Given the description of an element on the screen output the (x, y) to click on. 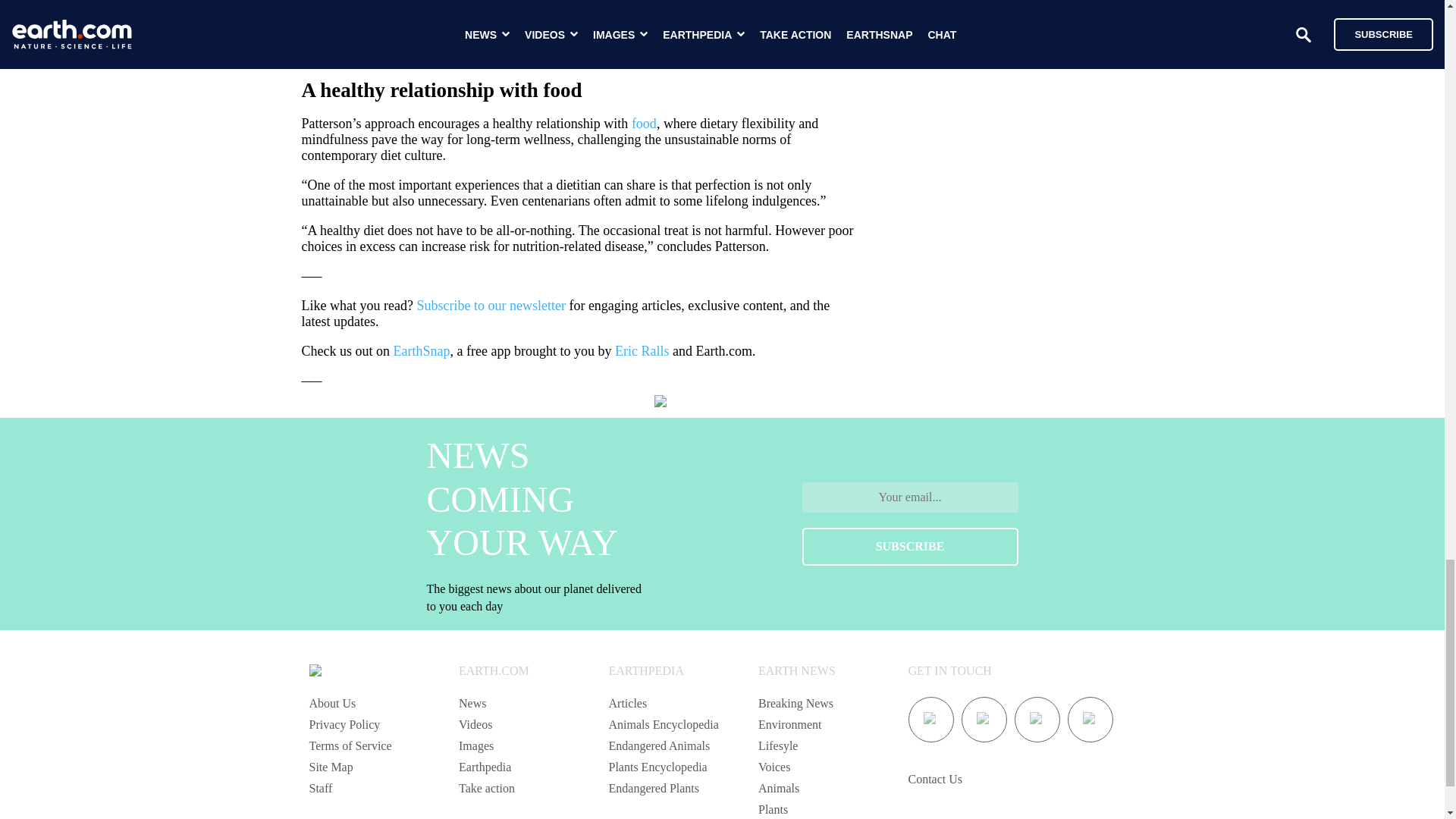
food (643, 123)
Eric Ralls (641, 350)
EarthSnap (421, 350)
Subscribe to our newsletter (490, 305)
